Given the description of an element on the screen output the (x, y) to click on. 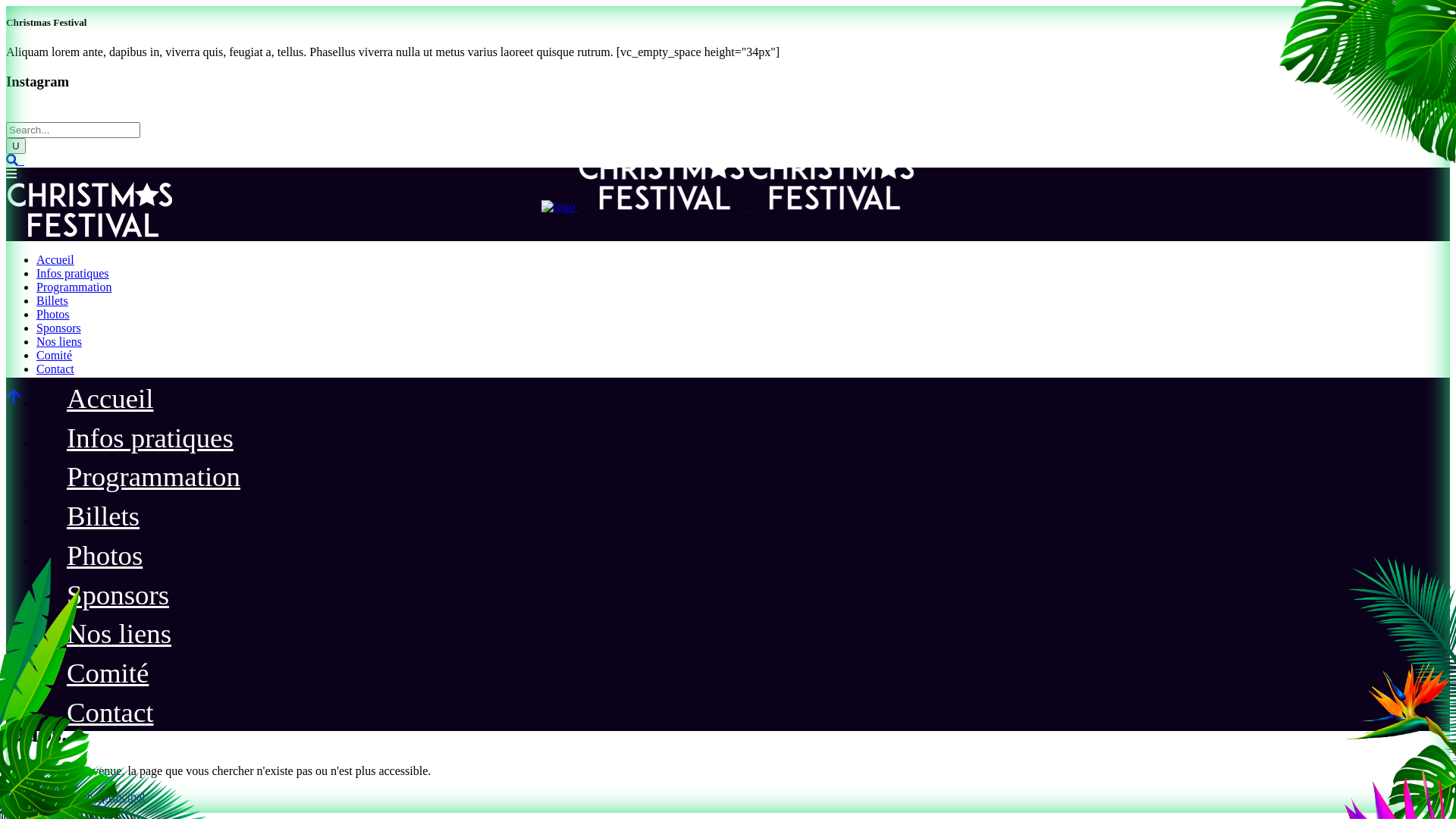
Sponsors Element type: text (117, 596)
Nos liens Element type: text (118, 635)
Retourner au menu principal Element type: text (75, 796)
Programmation Element type: text (153, 478)
Infos pratiques Element type: text (149, 439)
Nos liens Element type: text (58, 341)
Accueil Element type: text (109, 400)
Accueil Element type: text (55, 259)
Contact Element type: text (109, 714)
Photos Element type: text (104, 557)
U Element type: text (15, 145)
Contact Element type: text (55, 368)
Billets Element type: text (52, 300)
  Element type: text (22, 159)
Infos pratiques Element type: text (72, 272)
Photos Element type: text (52, 313)
Programmation Element type: text (74, 286)
Sponsors Element type: text (58, 327)
Billets Element type: text (102, 517)
